Given the description of an element on the screen output the (x, y) to click on. 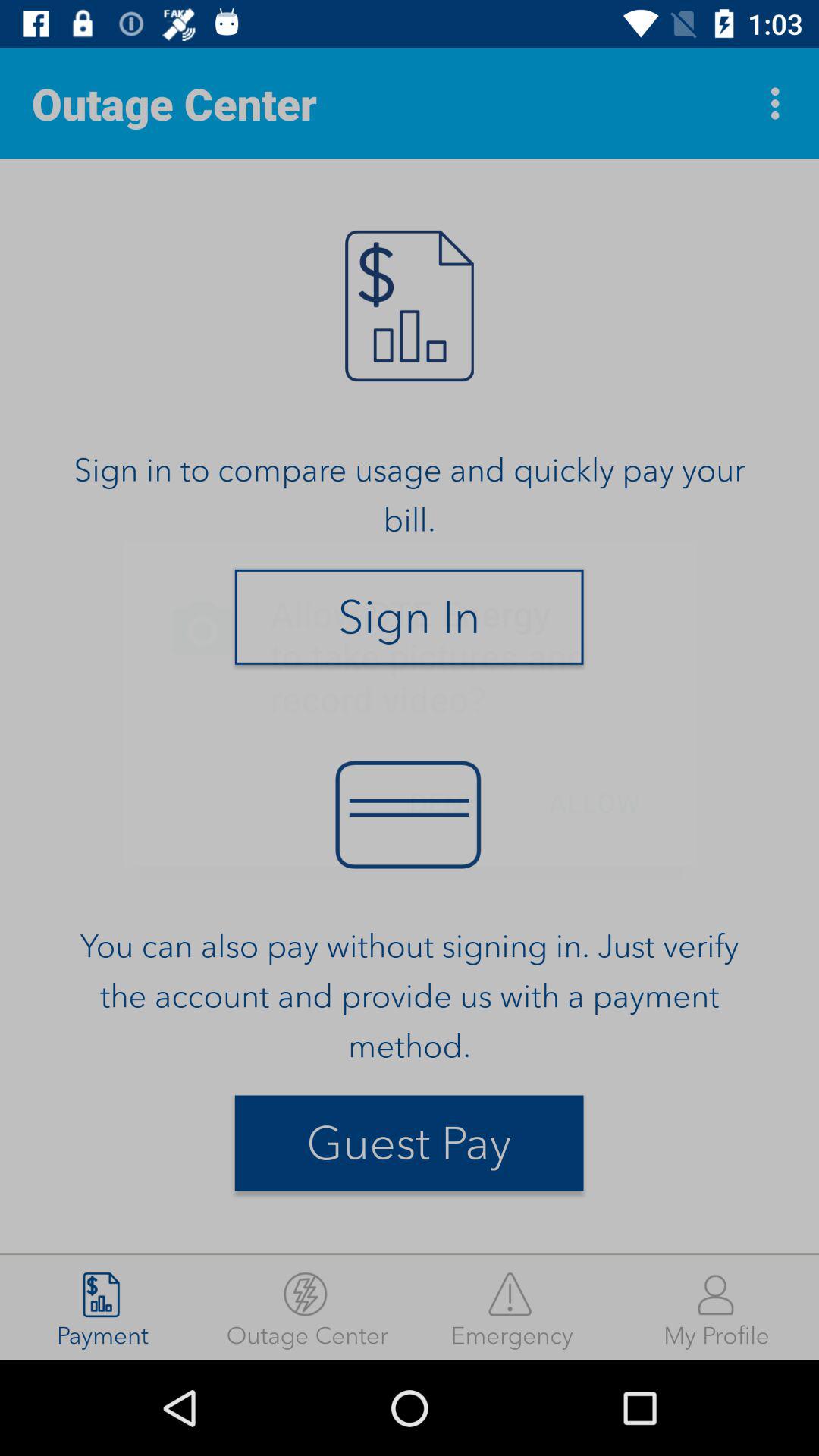
press my profile icon (716, 1307)
